Given the description of an element on the screen output the (x, y) to click on. 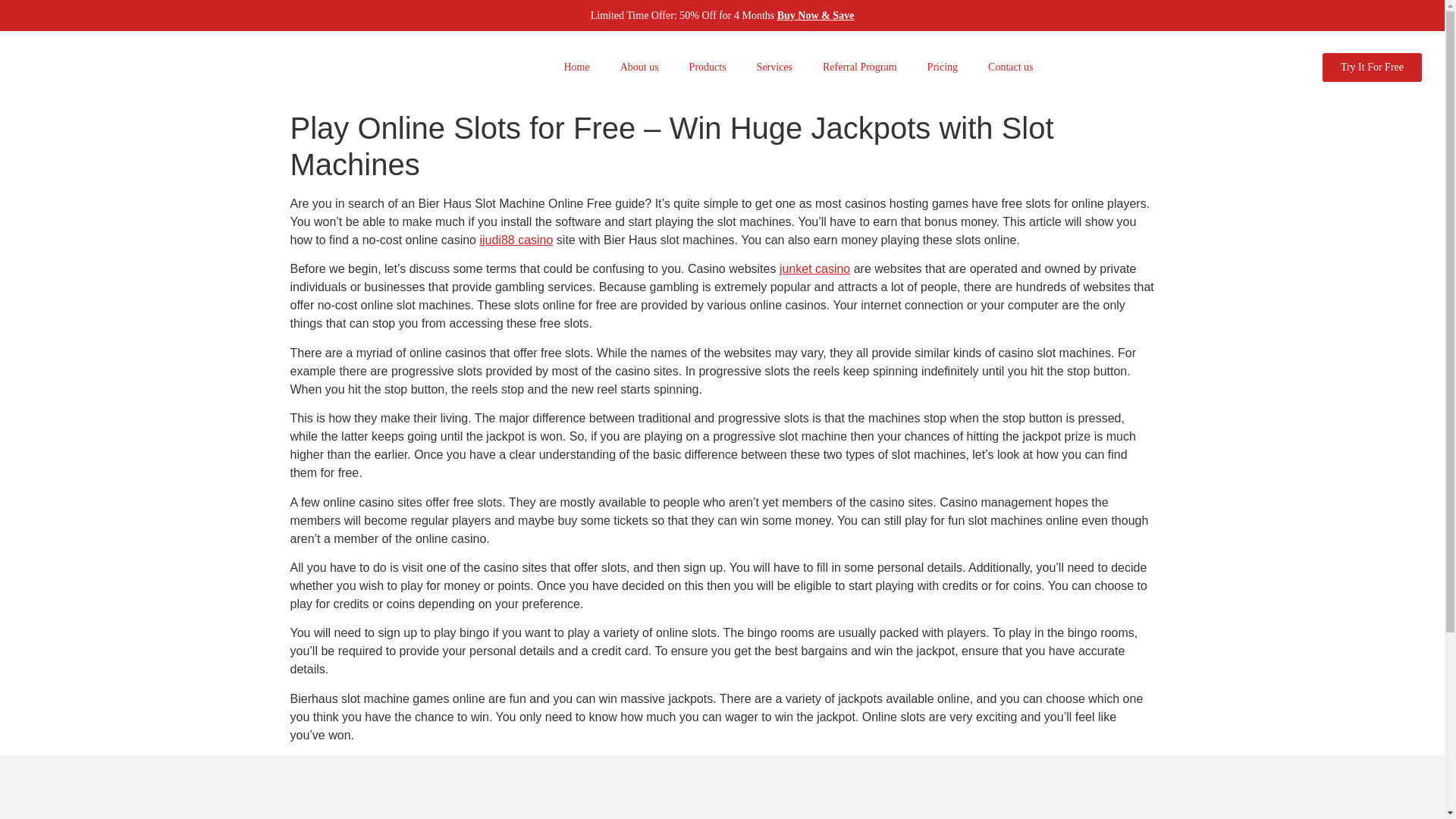
Referral Program (860, 67)
About us (639, 67)
Contact us (1010, 67)
ijudi88 casino (516, 239)
Pricing (942, 67)
Try It For Free (1372, 67)
junket casino (814, 268)
Services (774, 67)
Products (707, 67)
Home (576, 67)
